Given the description of an element on the screen output the (x, y) to click on. 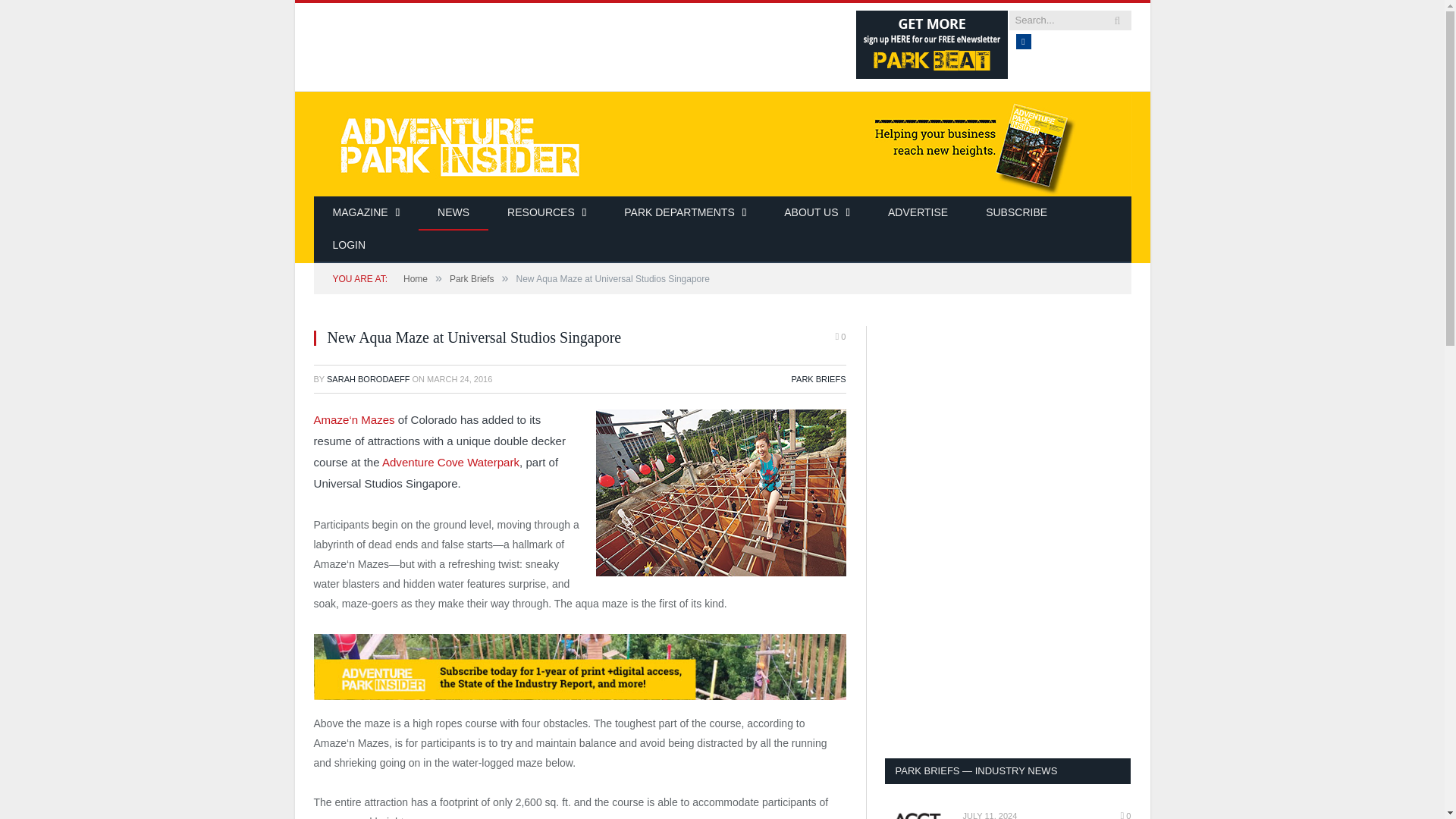
ADVERTISE (917, 213)
2016-03-24 (459, 379)
SUBSCRIBE (1015, 213)
ACCT to Serve as Technical Liaison for New ISO Standard (916, 814)
MAGAZINE (366, 213)
3rd party ad content (1007, 420)
RESOURCES (546, 213)
ABOUT US (817, 213)
3rd party ad content (577, 44)
Posts by Sarah Borodaeff (367, 379)
NEWS (453, 213)
Adventure Park Insider (722, 142)
LOGIN (349, 245)
3rd party ad content (1007, 637)
PARK DEPARTMENTS (685, 213)
